Given the description of an element on the screen output the (x, y) to click on. 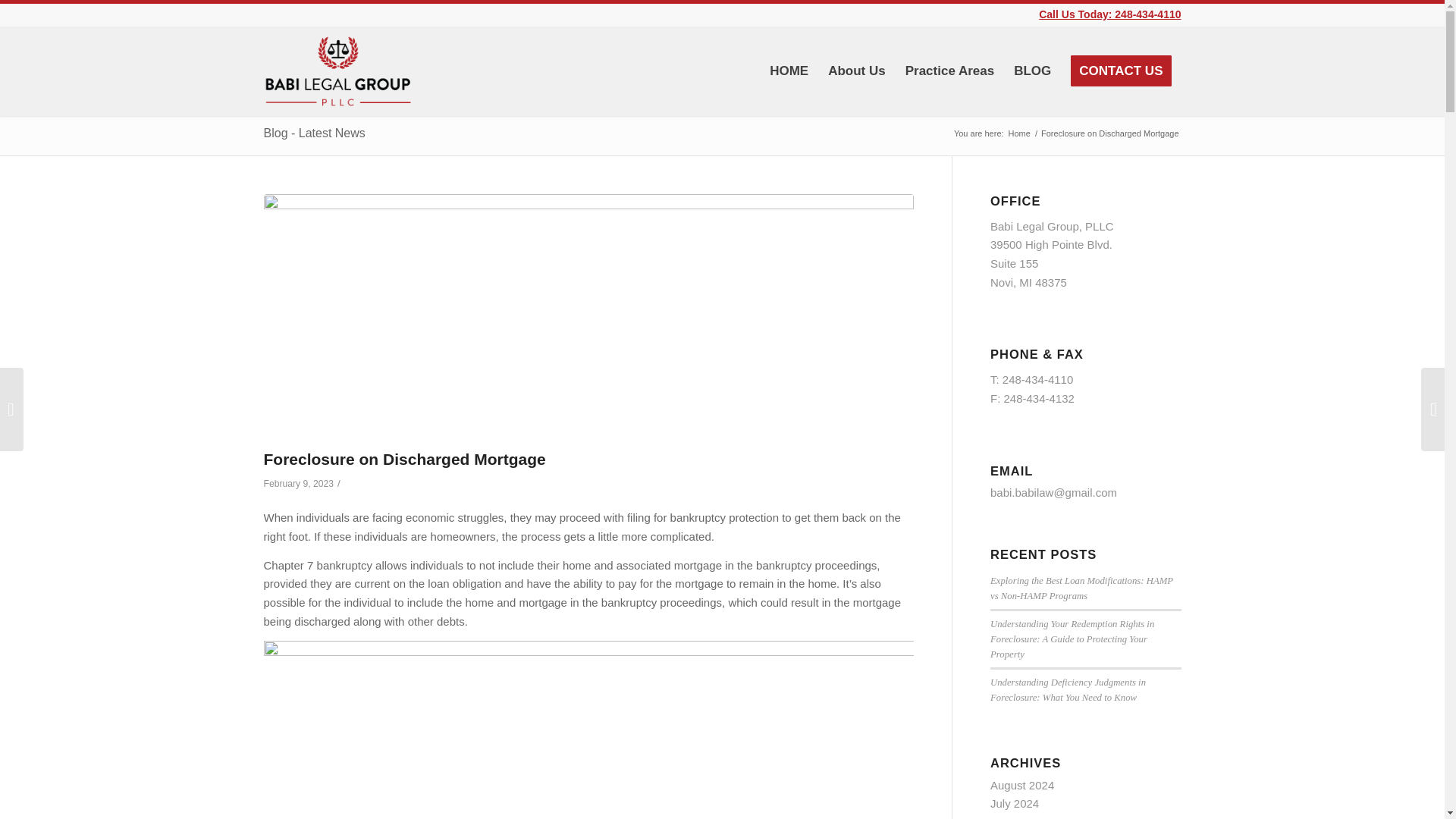
babilegalgroup.com (1019, 133)
CONTACT US (1120, 71)
Permanent Link: Foreclosure on Discharged Mortgage (404, 458)
Practice Areas (949, 71)
Permanent Link: Blog - Latest News (314, 132)
Call Us Today: 248-434-4110 (1109, 14)
